Given the description of an element on the screen output the (x, y) to click on. 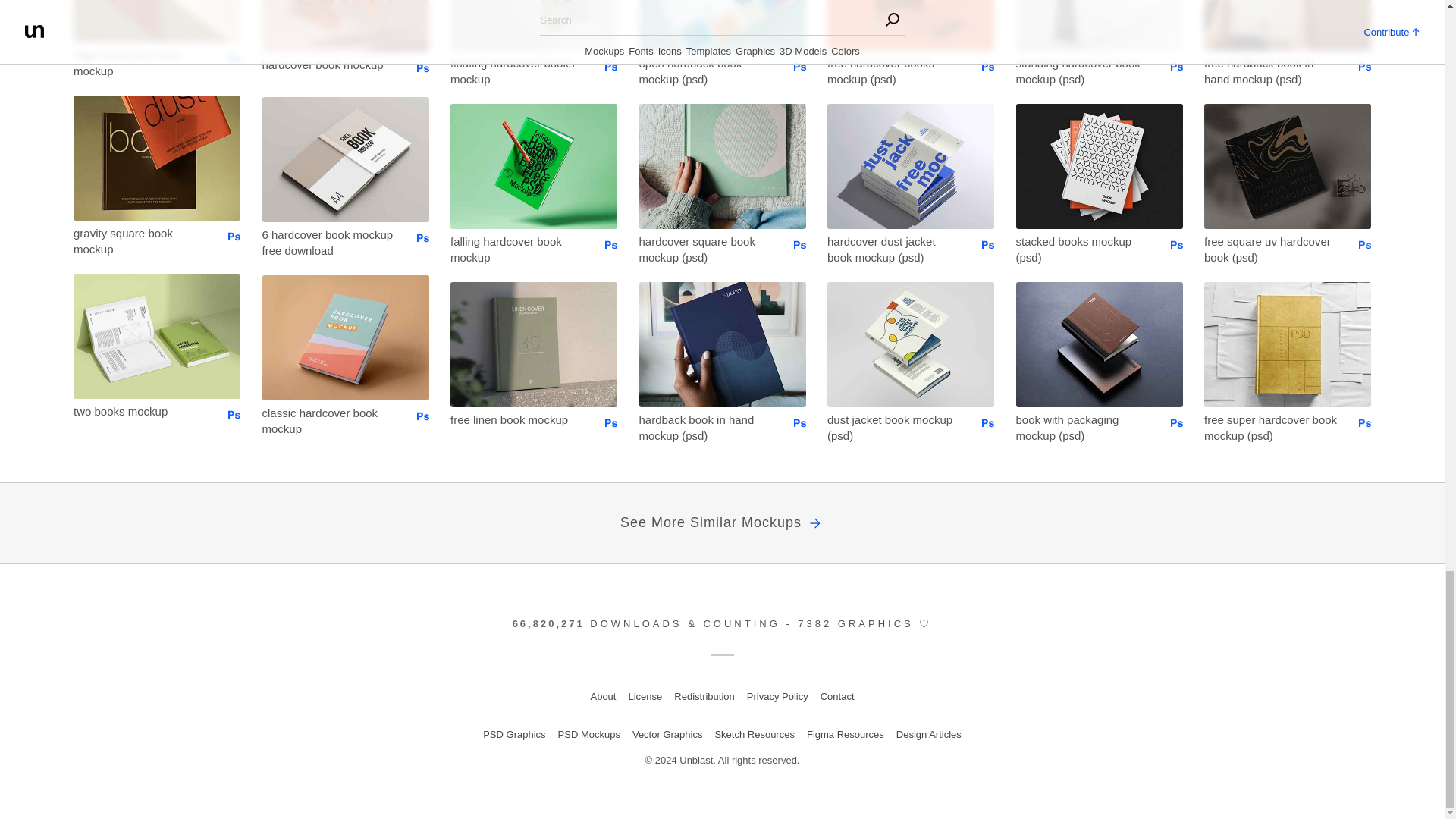
edge hardcover book mockup (140, 62)
two books mockup (140, 410)
falling hardcover book mockup (516, 248)
floating hardcover books mockup (516, 70)
classic hardcover book mockup (329, 420)
hardcover book mockup (329, 63)
free linen book mockup (516, 419)
gravity square book mockup (140, 240)
6 hardcover book mockup free download (329, 241)
